Given the description of an element on the screen output the (x, y) to click on. 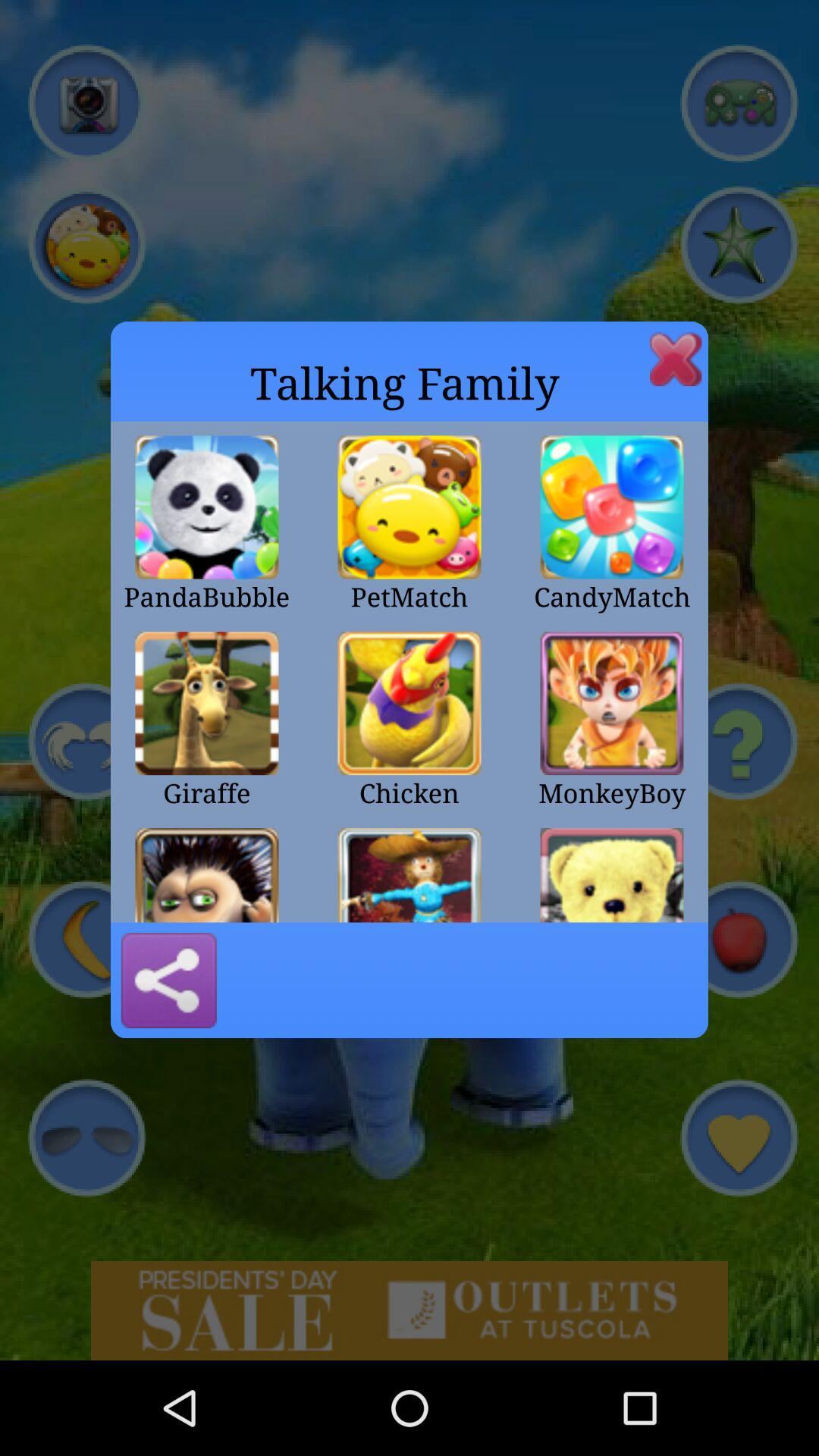
close window (675, 359)
